Given the description of an element on the screen output the (x, y) to click on. 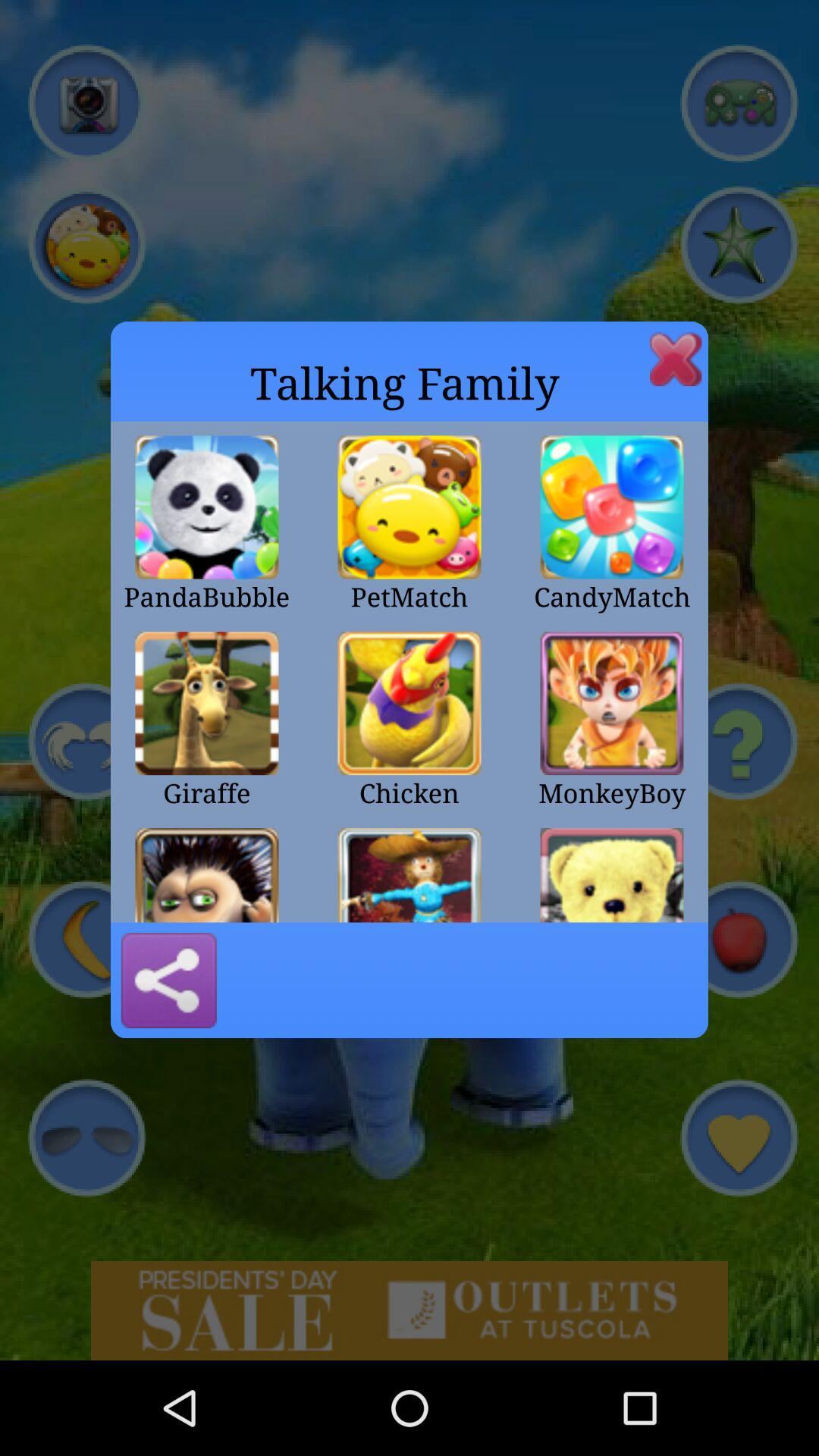
close window (675, 359)
